Given the description of an element on the screen output the (x, y) to click on. 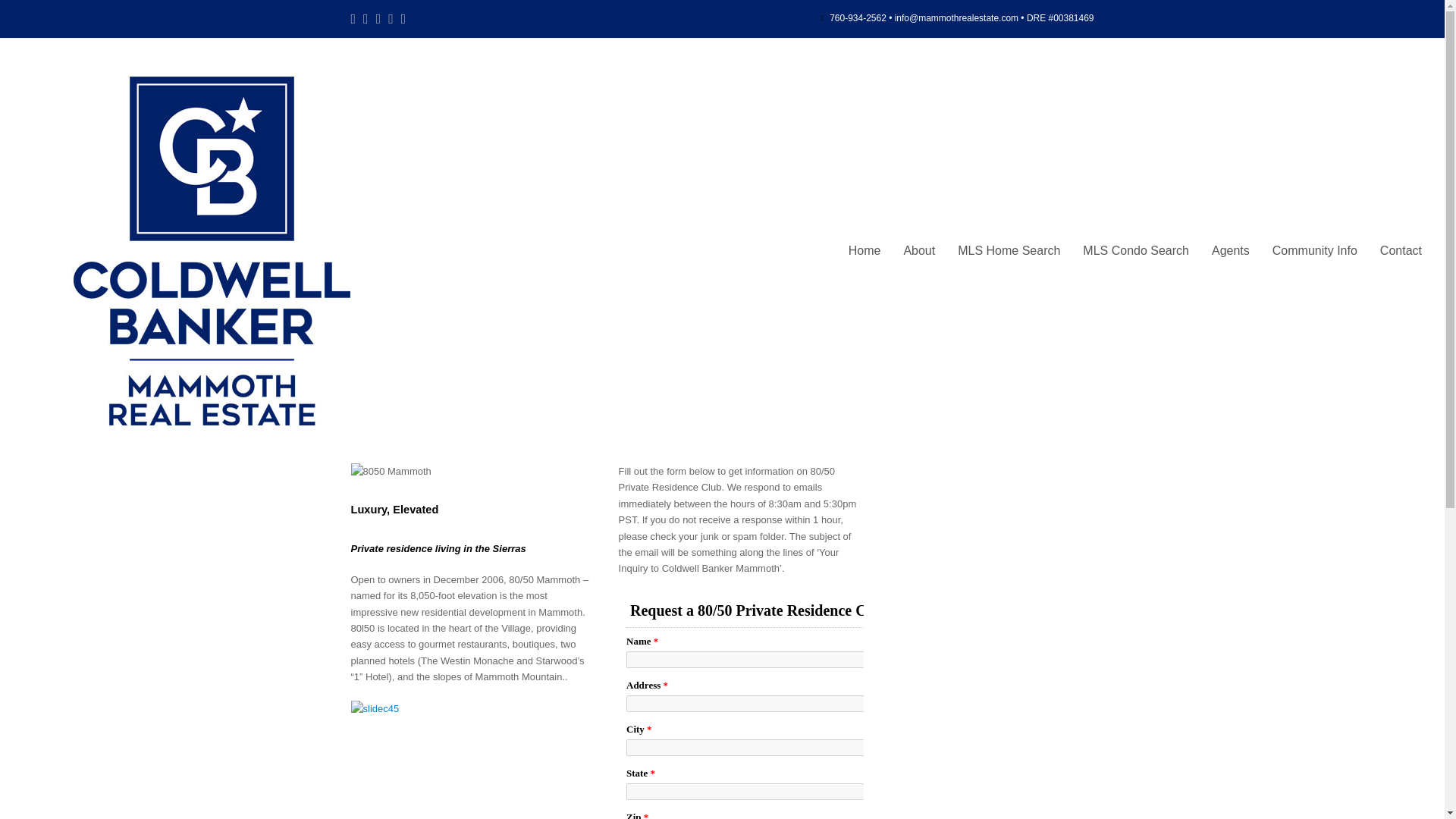
Coldwell Banker Mammoth Real Estate (212, 249)
Community Info (1314, 250)
About (918, 250)
Home (864, 250)
MLS Condo Search (1135, 250)
Agents (1229, 250)
MLS Home Search (1008, 250)
Contact (1400, 250)
